Given the description of an element on the screen output the (x, y) to click on. 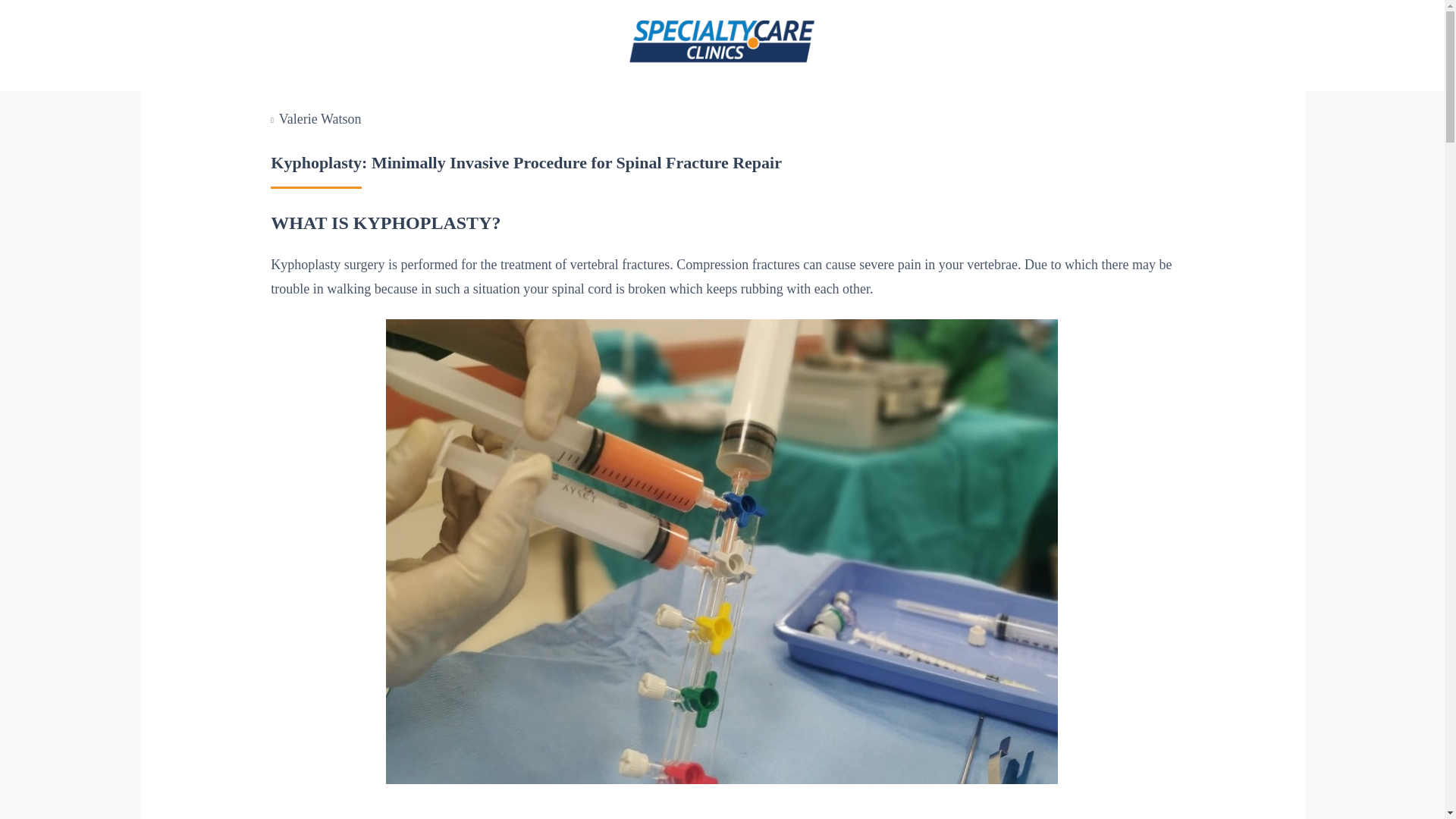
Valerie Watson (320, 118)
